Given the description of an element on the screen output the (x, y) to click on. 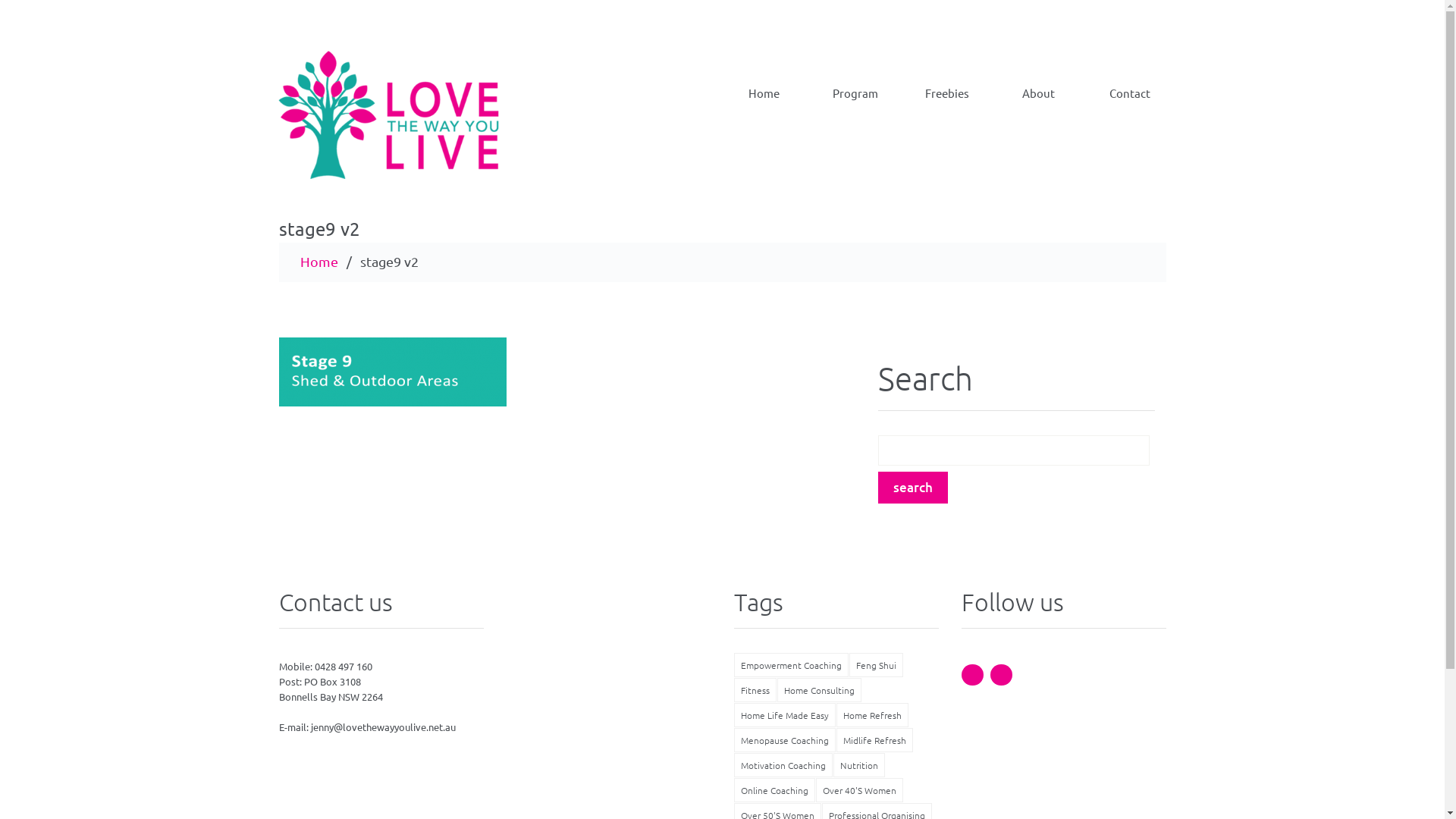
Menopause Coaching Element type: text (784, 740)
Home Consulting Element type: text (818, 689)
Midlife Refresh Element type: text (873, 740)
Online Coaching Element type: text (774, 790)
instagram Element type: hover (1001, 674)
Feng Shui Element type: text (876, 664)
Over 40'S Women Element type: text (859, 790)
Home Refresh Element type: text (871, 714)
Fitness Element type: text (755, 689)
Nutrition Element type: text (858, 765)
Home Life Made Easy Element type: text (784, 714)
Home Element type: text (764, 82)
jenny@lovethewayyoulive.net.au Element type: text (382, 726)
Empowerment Coaching Element type: text (791, 664)
About Element type: text (1038, 82)
Motivation Coaching Element type: text (783, 765)
Program Element type: text (855, 82)
Contact Element type: text (1130, 82)
search Element type: text (912, 487)
Home & Lifestyle Services Element type: hover (409, 118)
Freebies Element type: text (947, 82)
Home Element type: text (319, 261)
facebook Element type: hover (972, 674)
